Given the description of an element on the screen output the (x, y) to click on. 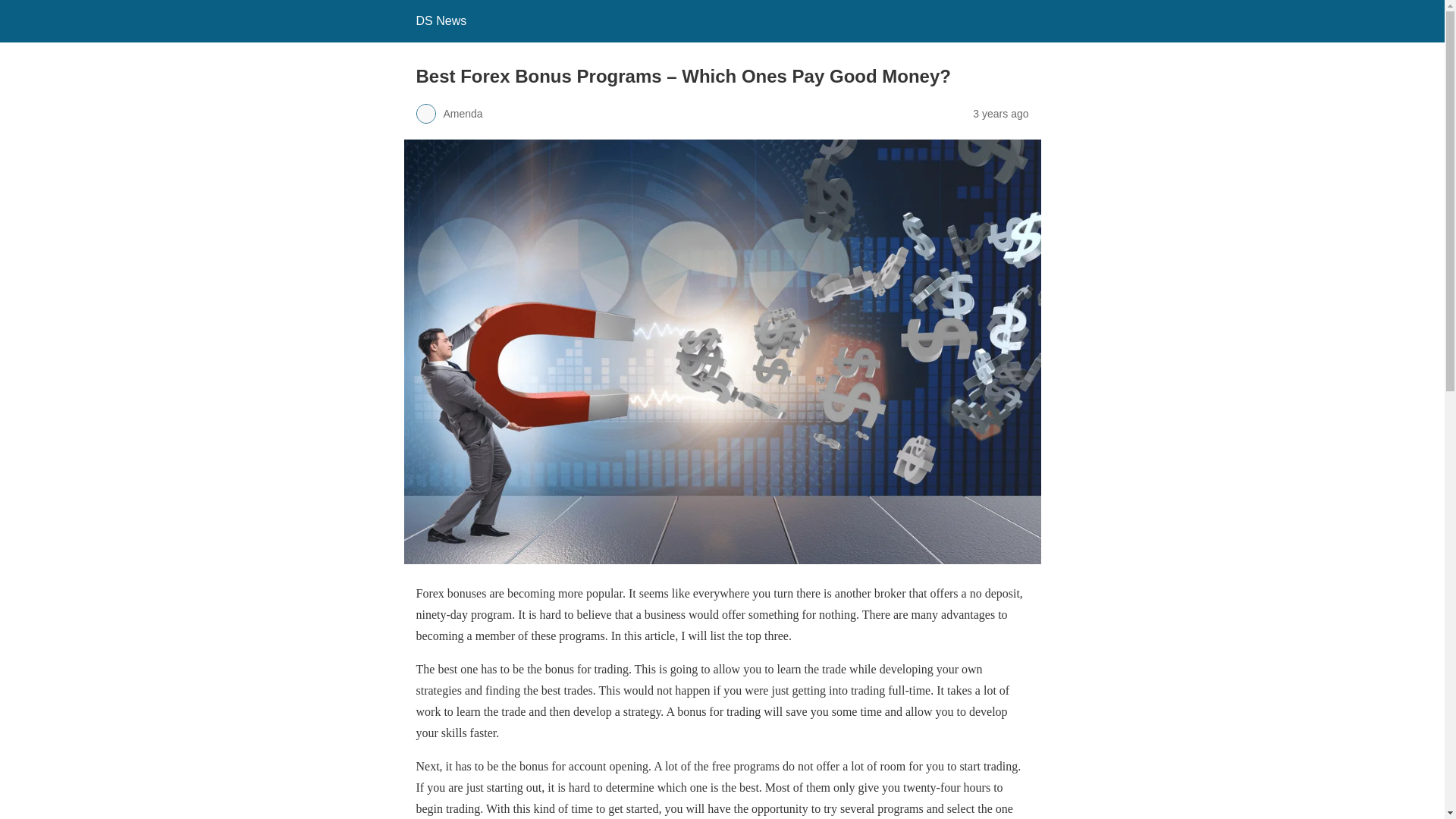
DS News (439, 20)
